Given the description of an element on the screen output the (x, y) to click on. 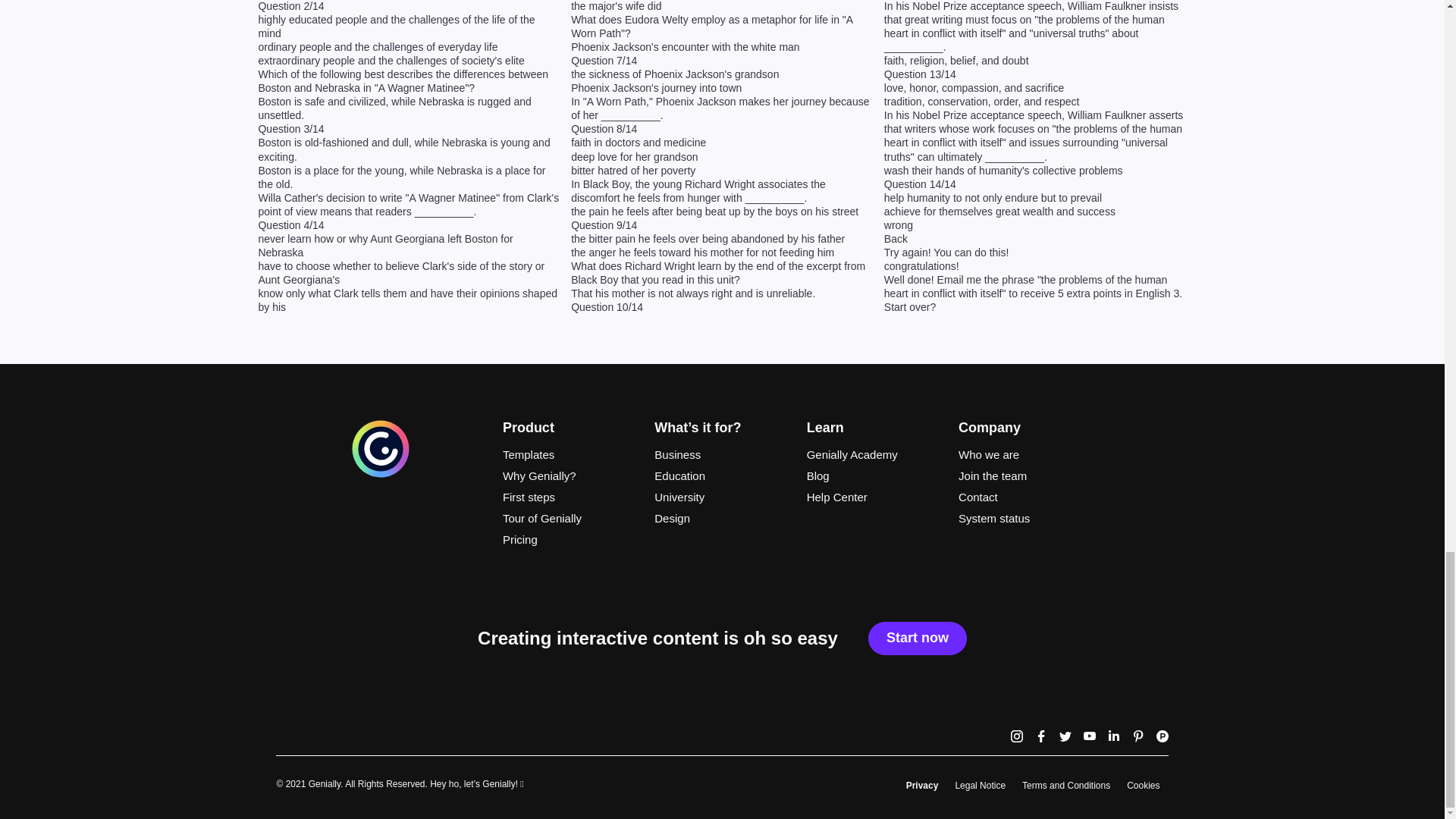
Genially home page (380, 475)
University (721, 497)
Business (721, 454)
First steps (569, 497)
Education (721, 475)
Design (721, 518)
Pricing (569, 539)
Templates (569, 454)
Genially Academy (874, 454)
Join the team (1025, 475)
